Given the description of an element on the screen output the (x, y) to click on. 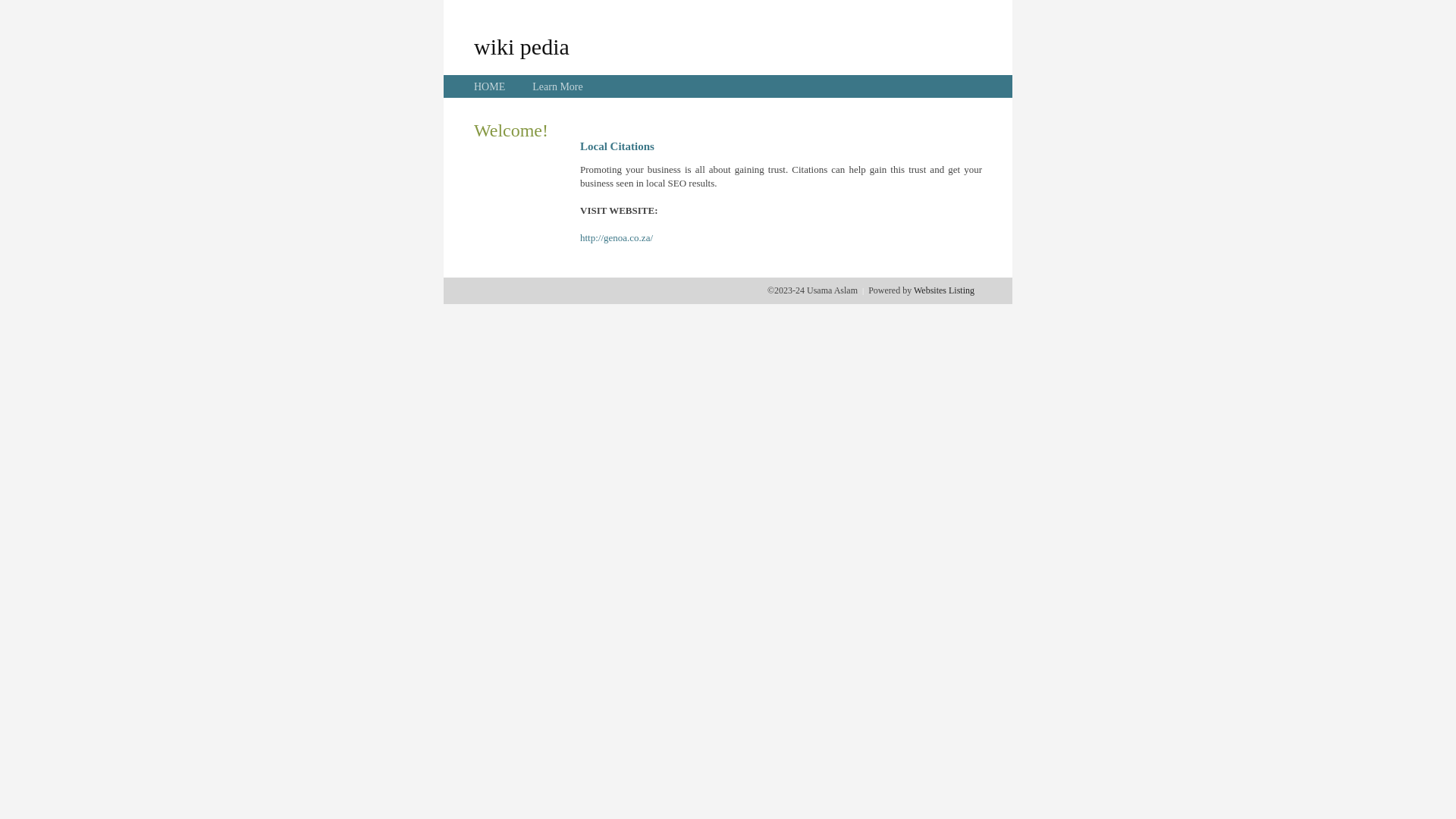
http://genoa.co.za/ Element type: text (616, 237)
HOME Element type: text (489, 86)
wiki pedia Element type: text (521, 46)
Websites Listing Element type: text (943, 290)
Learn More Element type: text (557, 86)
